Given the description of an element on the screen output the (x, y) to click on. 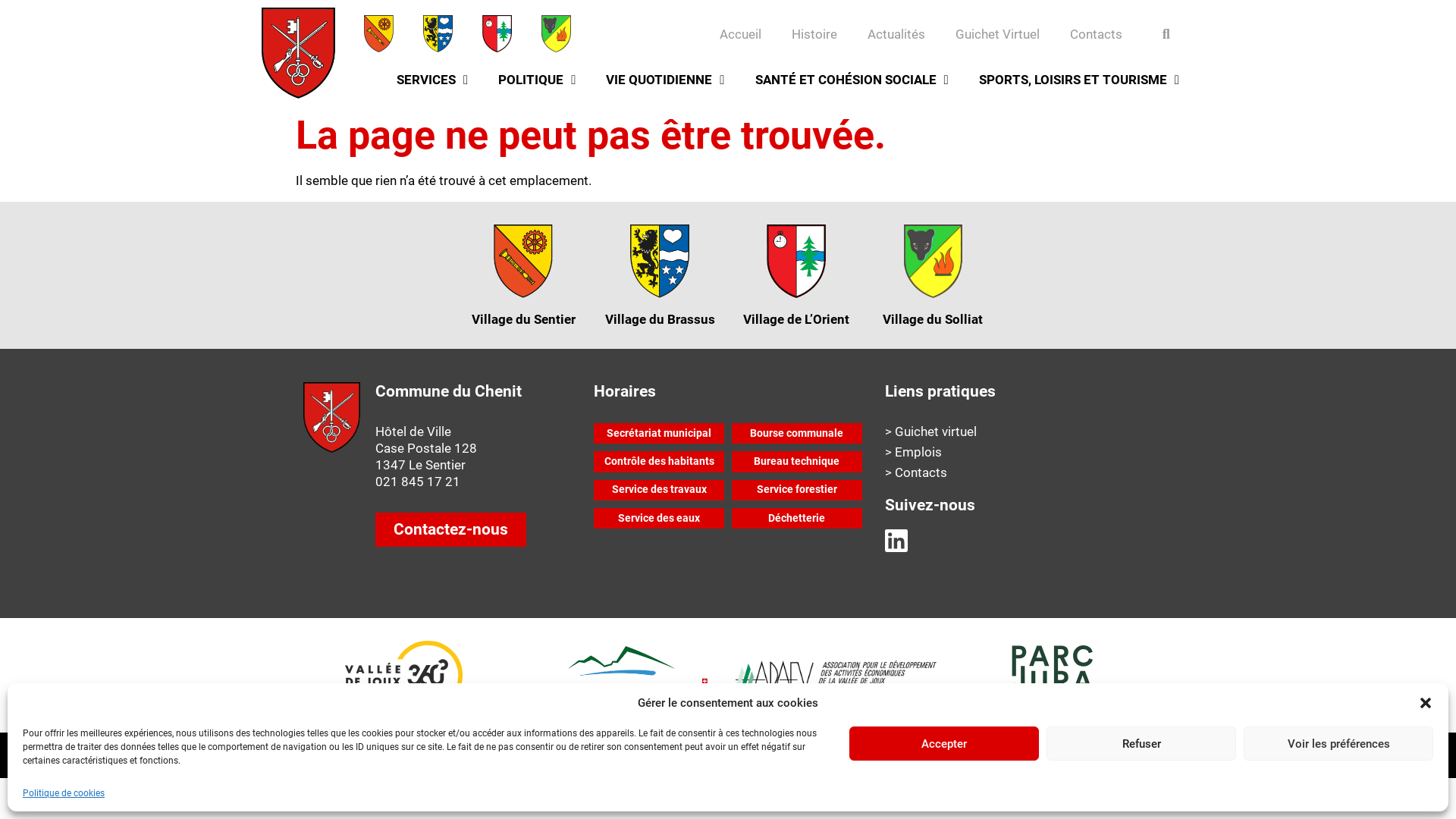
Guichet Virtuel Element type: text (997, 34)
VIE QUOTIDIENNE Element type: text (664, 79)
SERVICES Element type: text (432, 79)
Politique de cookies Element type: text (63, 793)
Pmbcom Element type: text (1125, 748)
SPORTS, LOISIRS ET TOURISME Element type: text (1078, 79)
> Contacts Element type: text (1018, 472)
Refuser Element type: text (1141, 743)
Service des travaux Element type: text (658, 490)
Bourse communale Element type: text (796, 433)
Bureau technique Element type: text (796, 461)
> Emplois Element type: text (1018, 451)
Accepter Element type: text (943, 743)
Service forestier Element type: text (796, 490)
Contacts Element type: text (1095, 34)
Contactez-nous Element type: text (450, 529)
Service des eaux Element type: text (658, 518)
Accueil Element type: text (740, 34)
POLITIQUE Element type: text (536, 79)
Histoire Element type: text (814, 34)
> Guichet virtuel Element type: text (1018, 431)
